Given the description of an element on the screen output the (x, y) to click on. 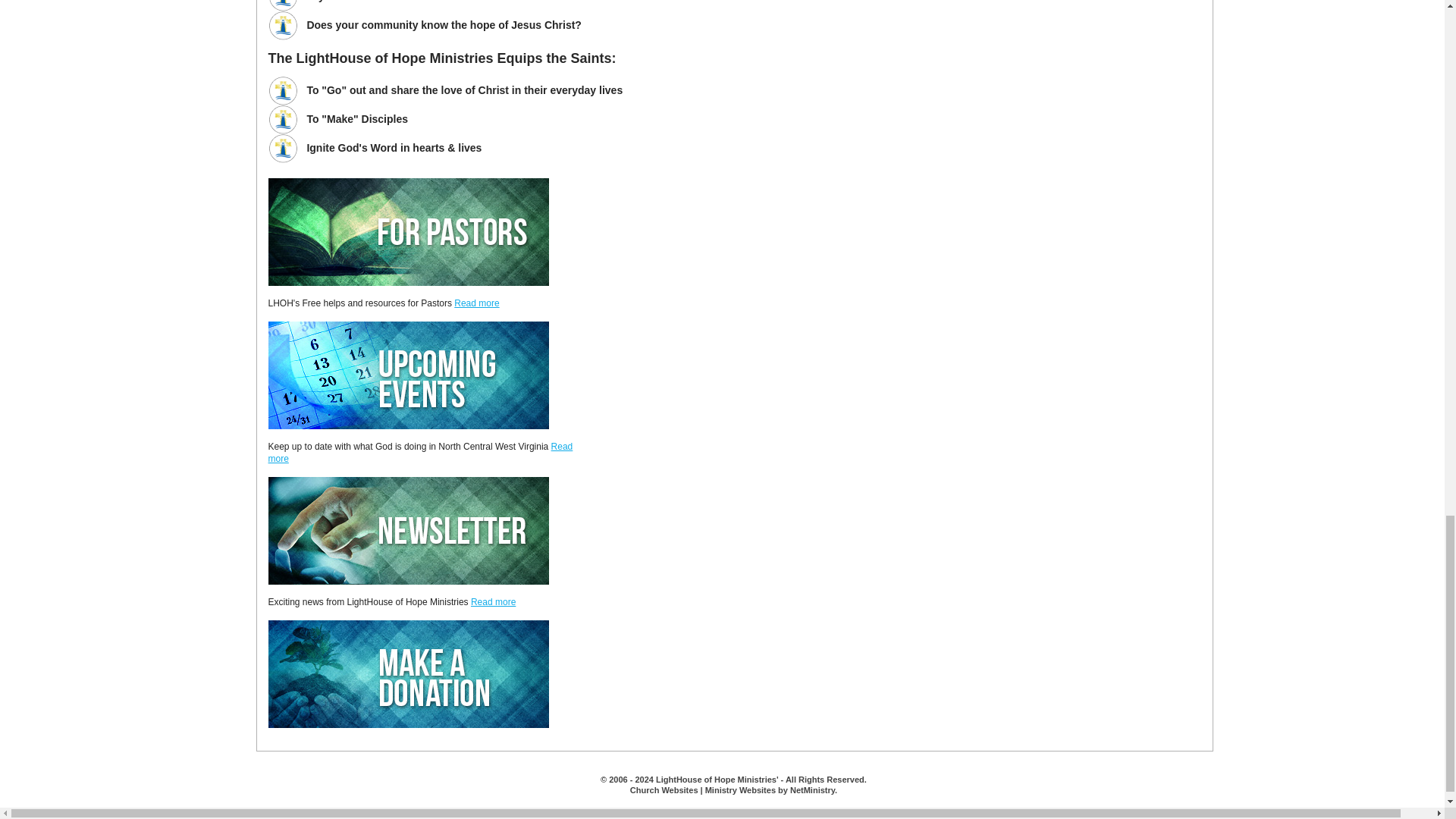
Read more (420, 453)
NetMinistry (812, 789)
Read more (476, 303)
Read more (492, 602)
